Given the description of an element on the screen output the (x, y) to click on. 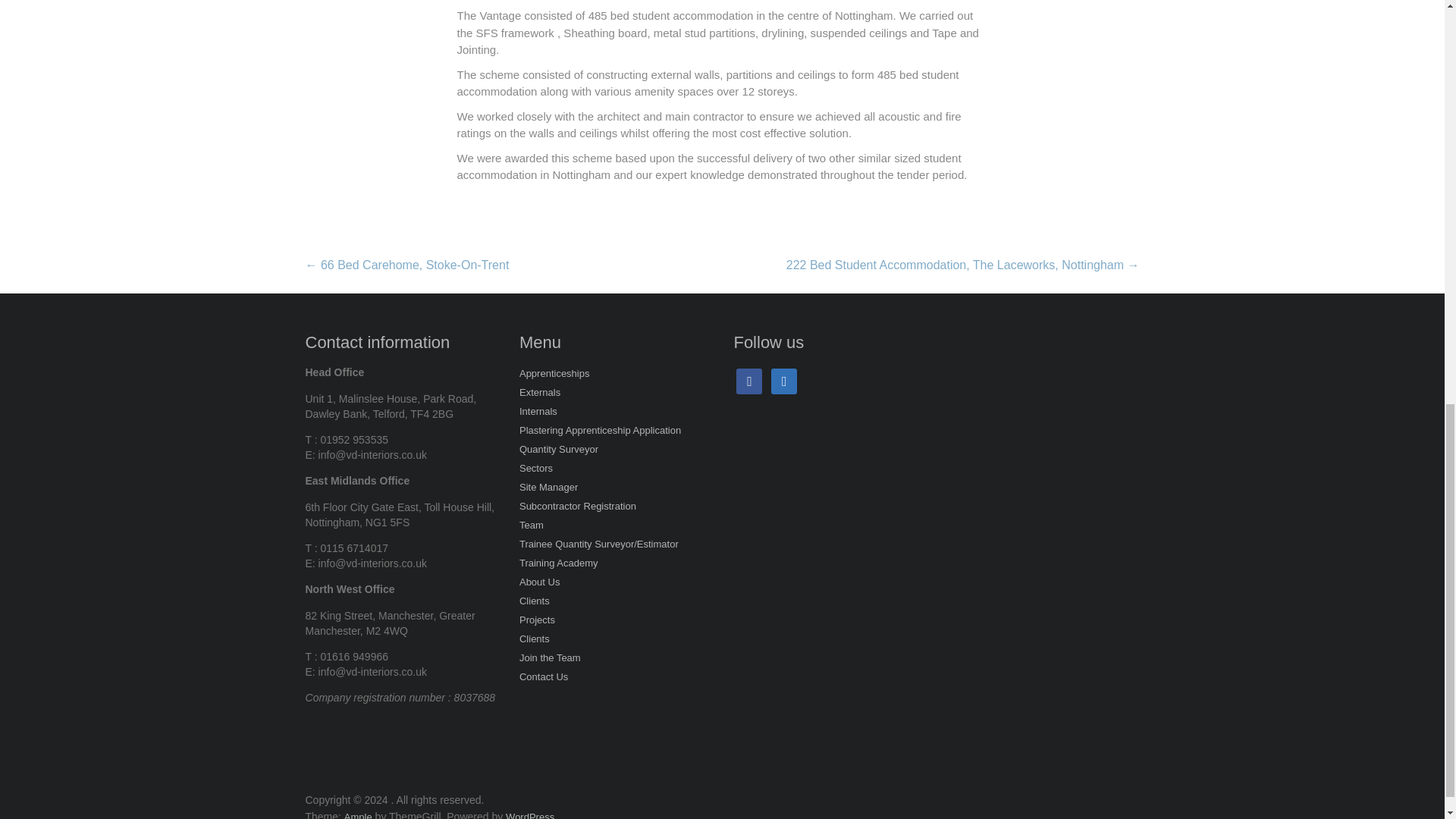
Team (531, 526)
Clients (534, 640)
Sectors (536, 469)
Subcontractor Registration (577, 506)
Internals (538, 412)
Contact Us (543, 678)
Externals (539, 393)
facebook (748, 382)
Apprenticeships (554, 374)
About Us (539, 583)
